Given the description of an element on the screen output the (x, y) to click on. 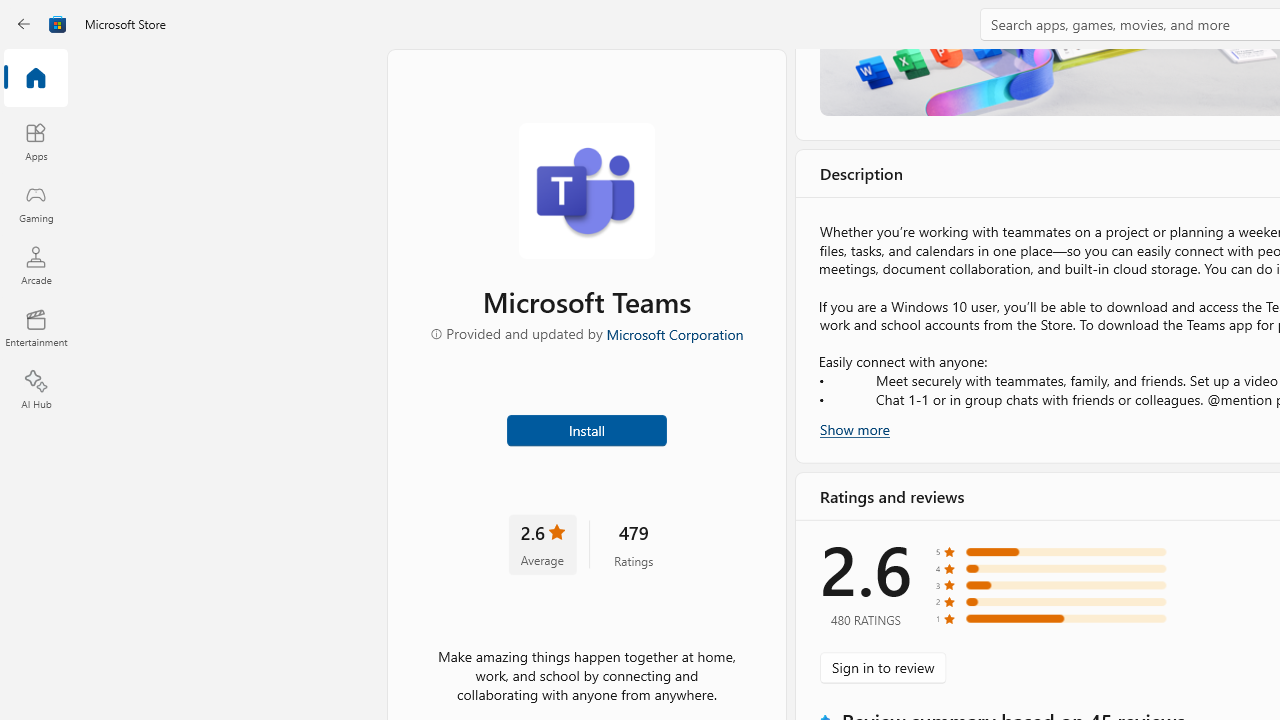
Microsoft Corporation (673, 333)
Back (24, 24)
2.6 stars. Click to skip to ratings and reviews (542, 543)
Install (586, 428)
Show more (854, 428)
Sign in to review (882, 667)
